Given the description of an element on the screen output the (x, y) to click on. 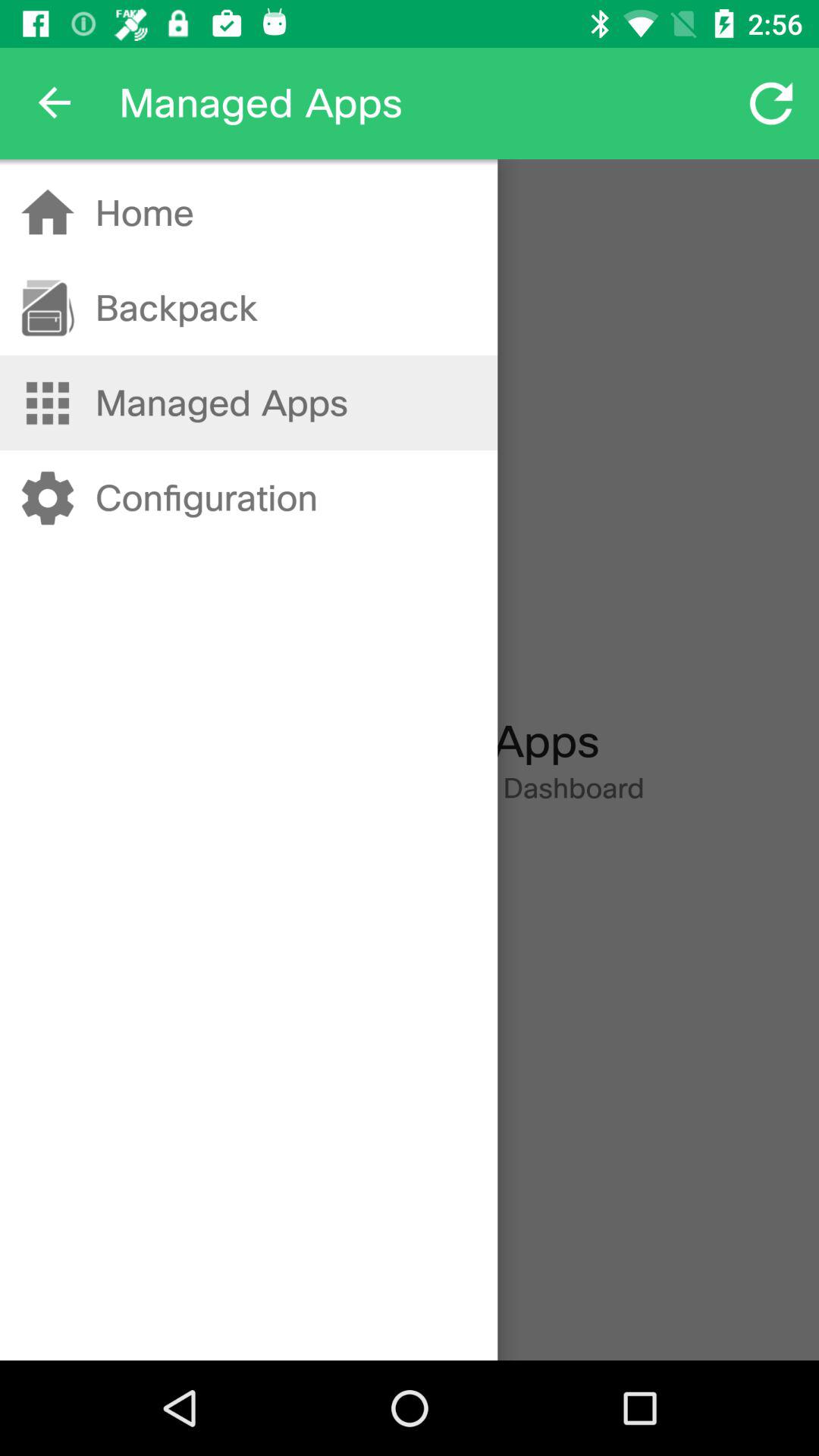
open icon at the top right corner (771, 103)
